Given the description of an element on the screen output the (x, y) to click on. 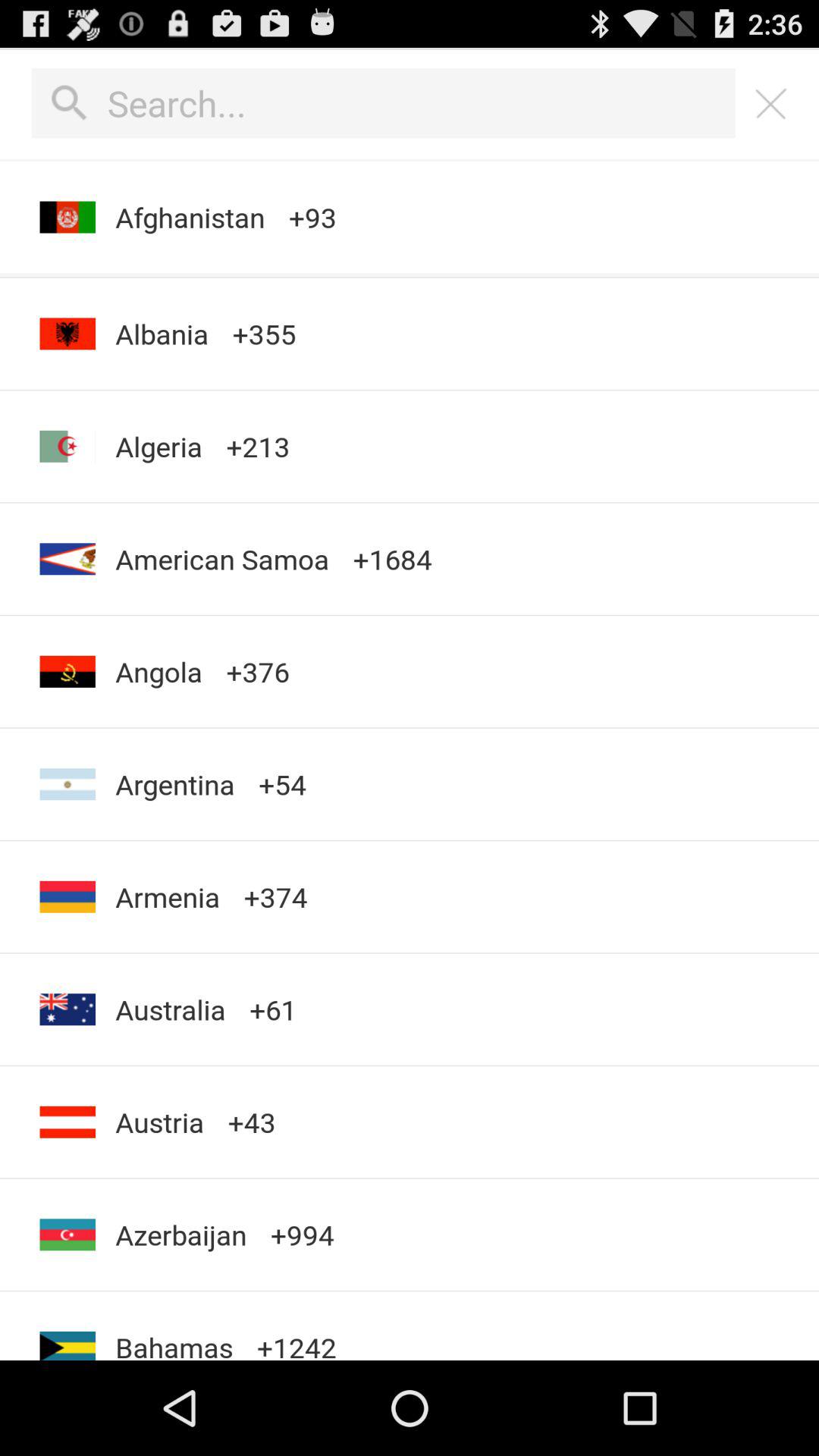
search bar (383, 103)
